Given the description of an element on the screen output the (x, y) to click on. 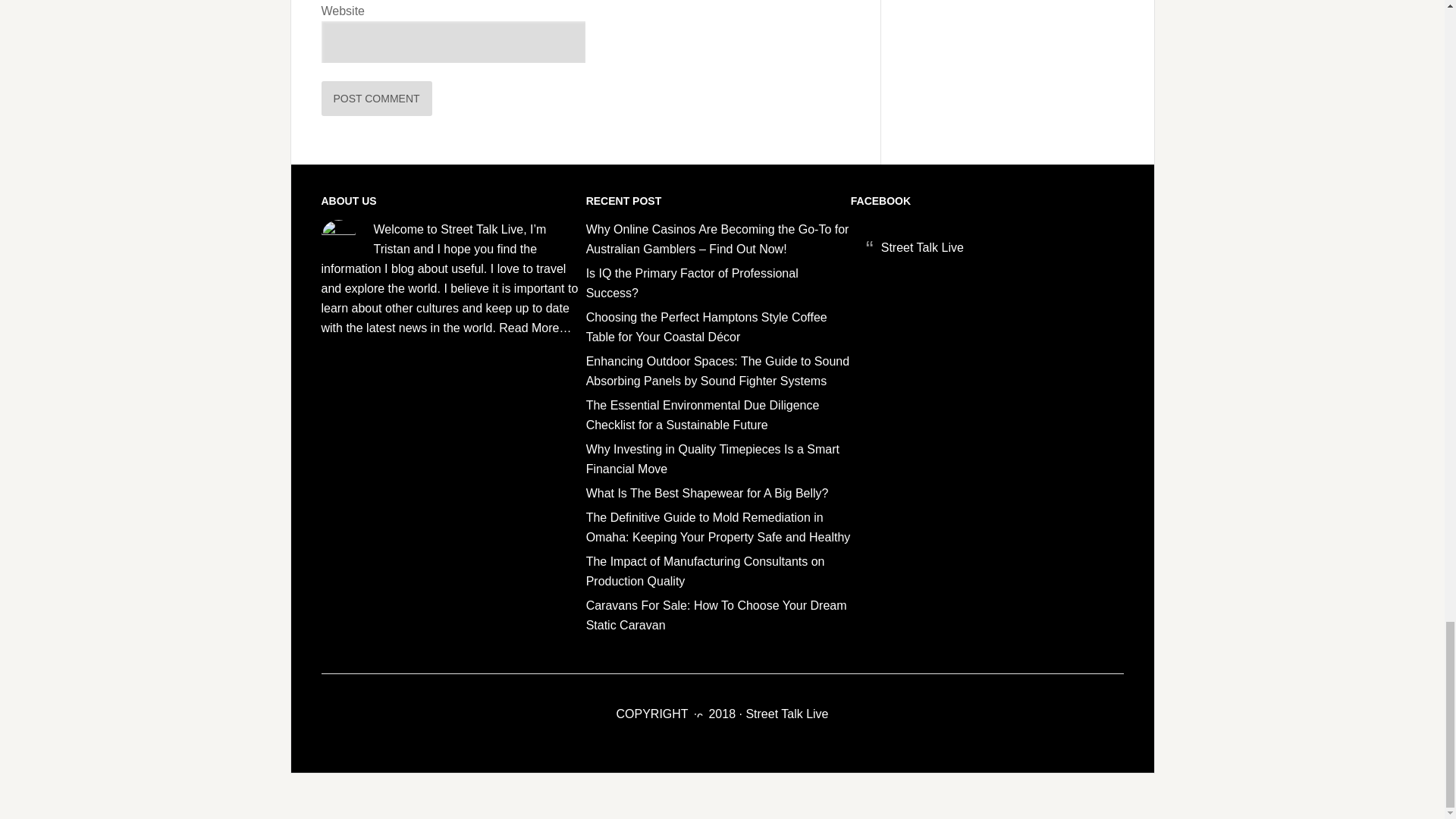
Post Comment (376, 98)
:copyright: (698, 711)
Post Comment (376, 98)
